Given the description of an element on the screen output the (x, y) to click on. 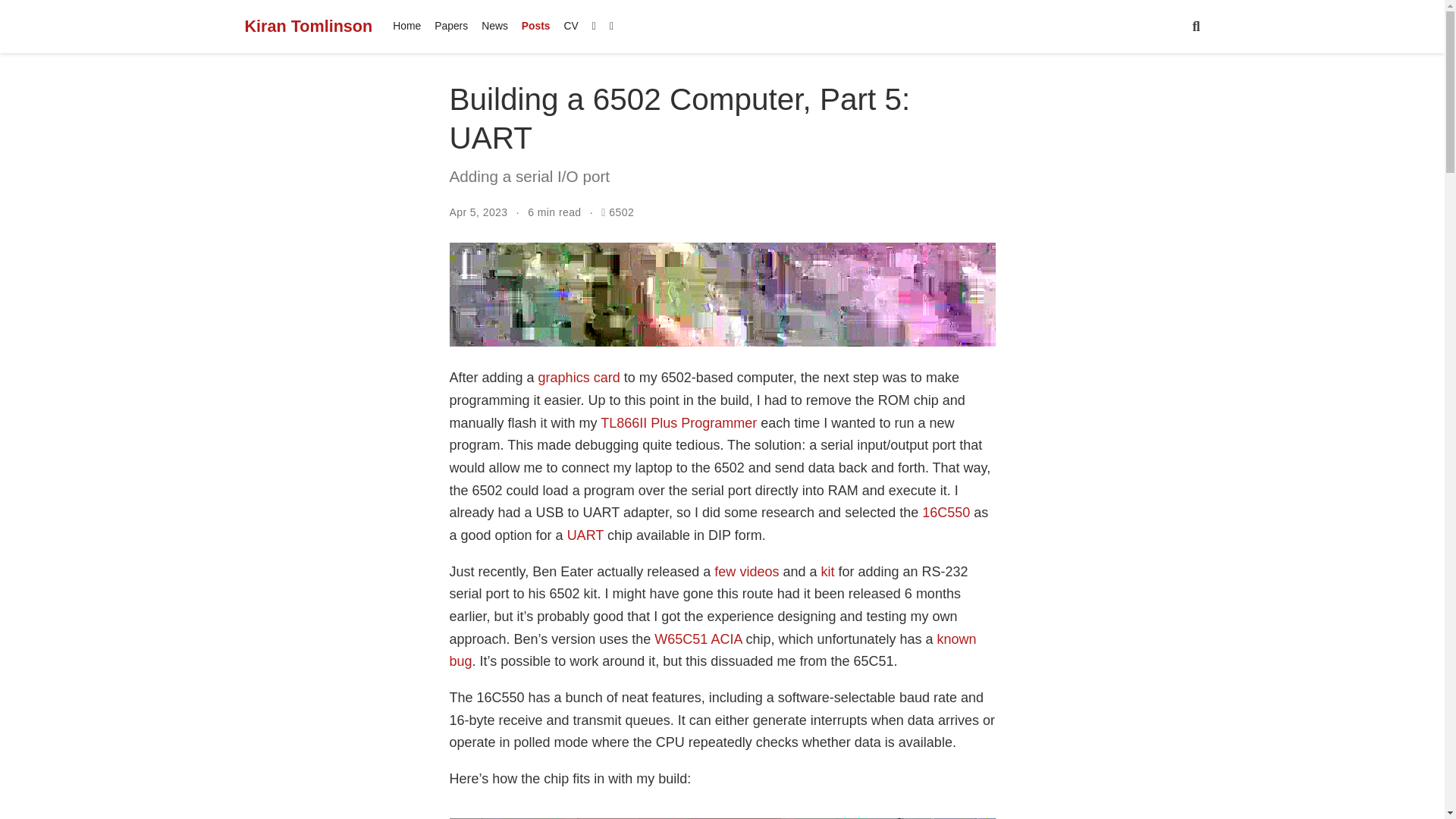
6502 (620, 212)
Kiran Tomlinson (308, 26)
W65C51 ACIA (697, 639)
Papers (451, 26)
CV (571, 26)
16C550 (945, 512)
known bug (711, 650)
Posts (536, 26)
kit (827, 571)
Home (406, 26)
videos (758, 571)
TL866II Plus Programmer (678, 422)
UART (585, 534)
few (724, 571)
graphics card (579, 377)
